Given the description of an element on the screen output the (x, y) to click on. 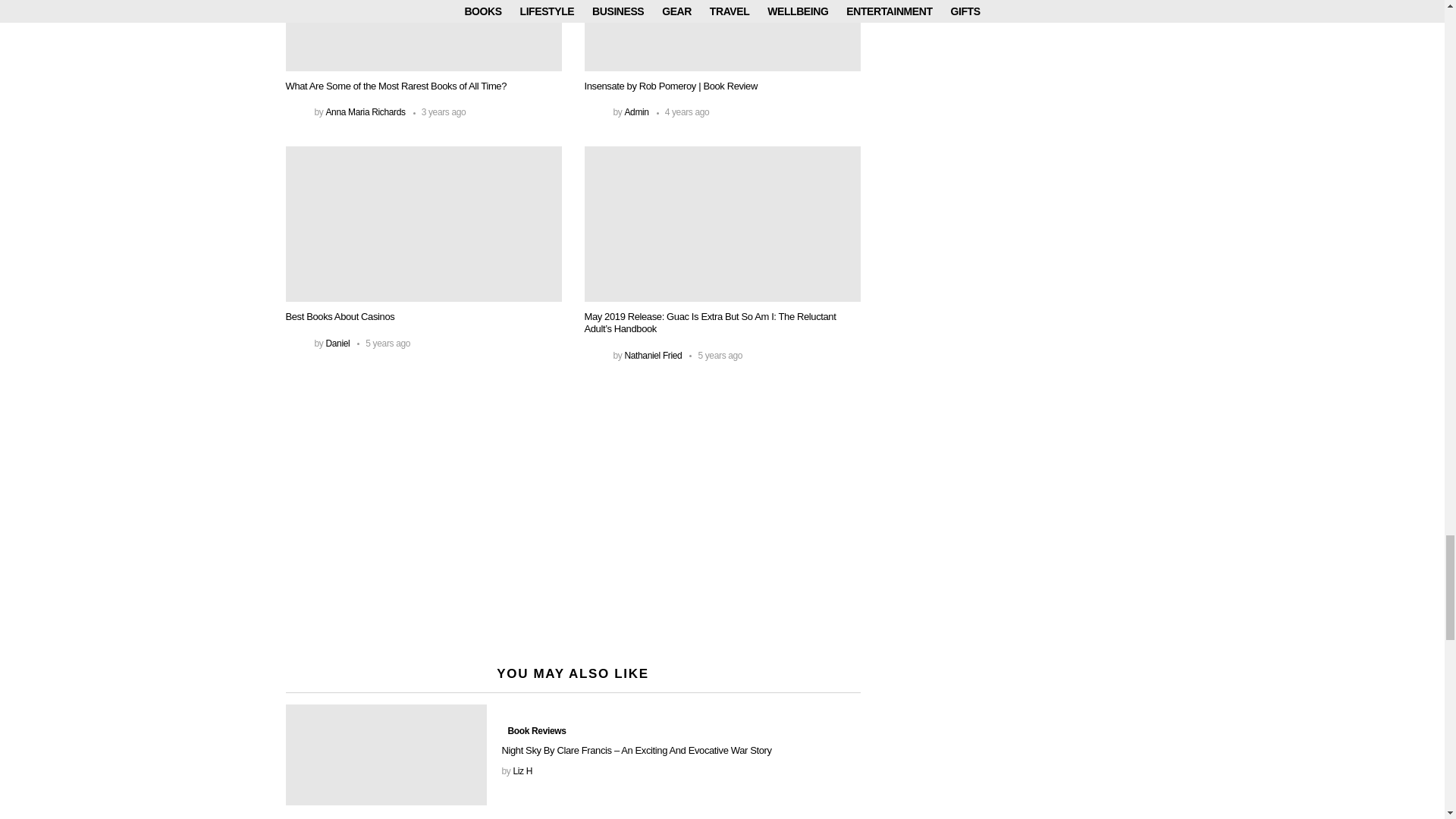
What Are Some of the Most Rarest Books of All Time? (422, 35)
